Given the description of an element on the screen output the (x, y) to click on. 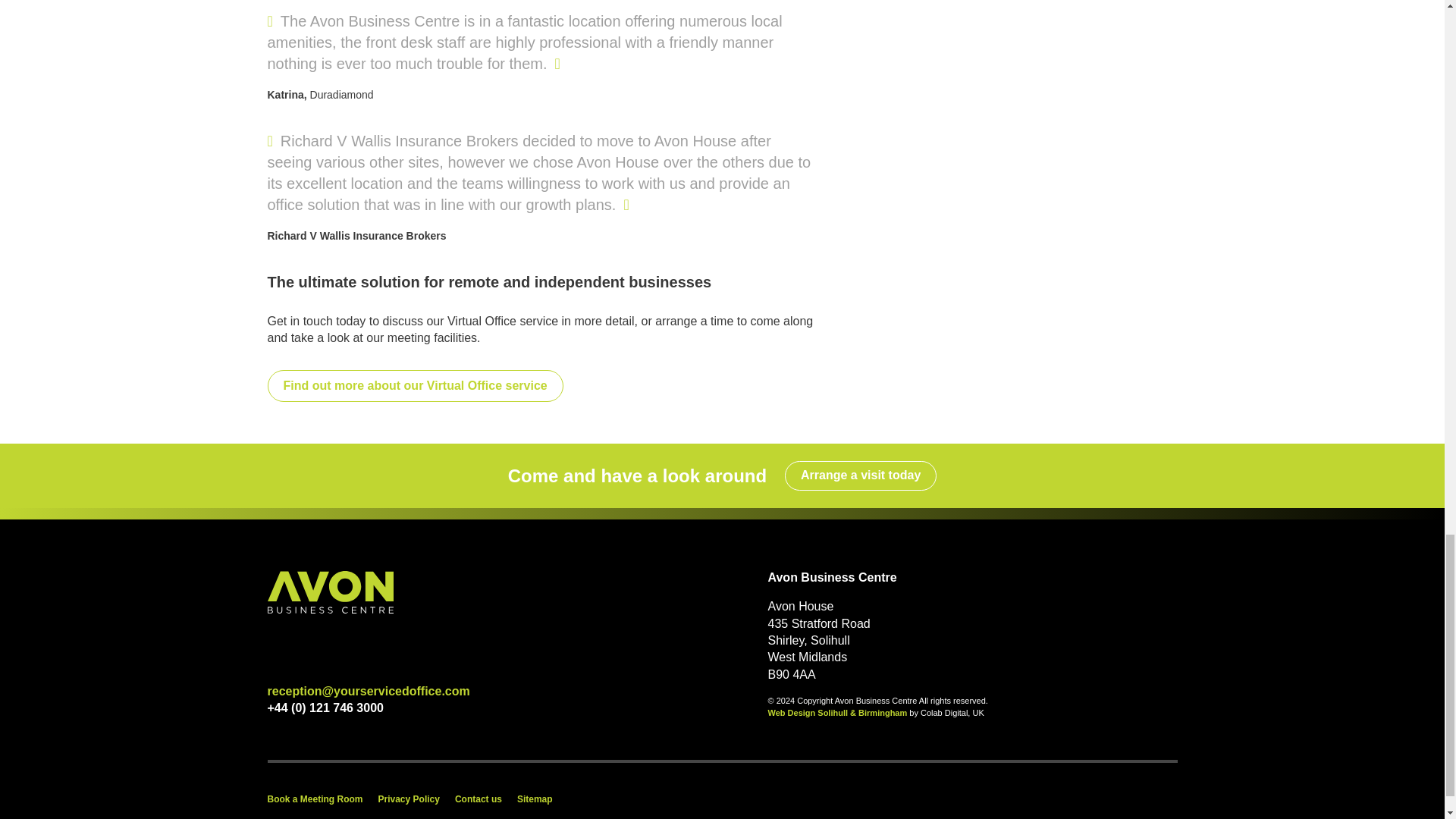
Privacy Policy (408, 799)
Arrange a visit today (860, 474)
Find out more about our Virtual Office service (414, 386)
Contact us (478, 799)
Sitemap (534, 799)
Book a Meeting Room (314, 799)
